Given the description of an element on the screen output the (x, y) to click on. 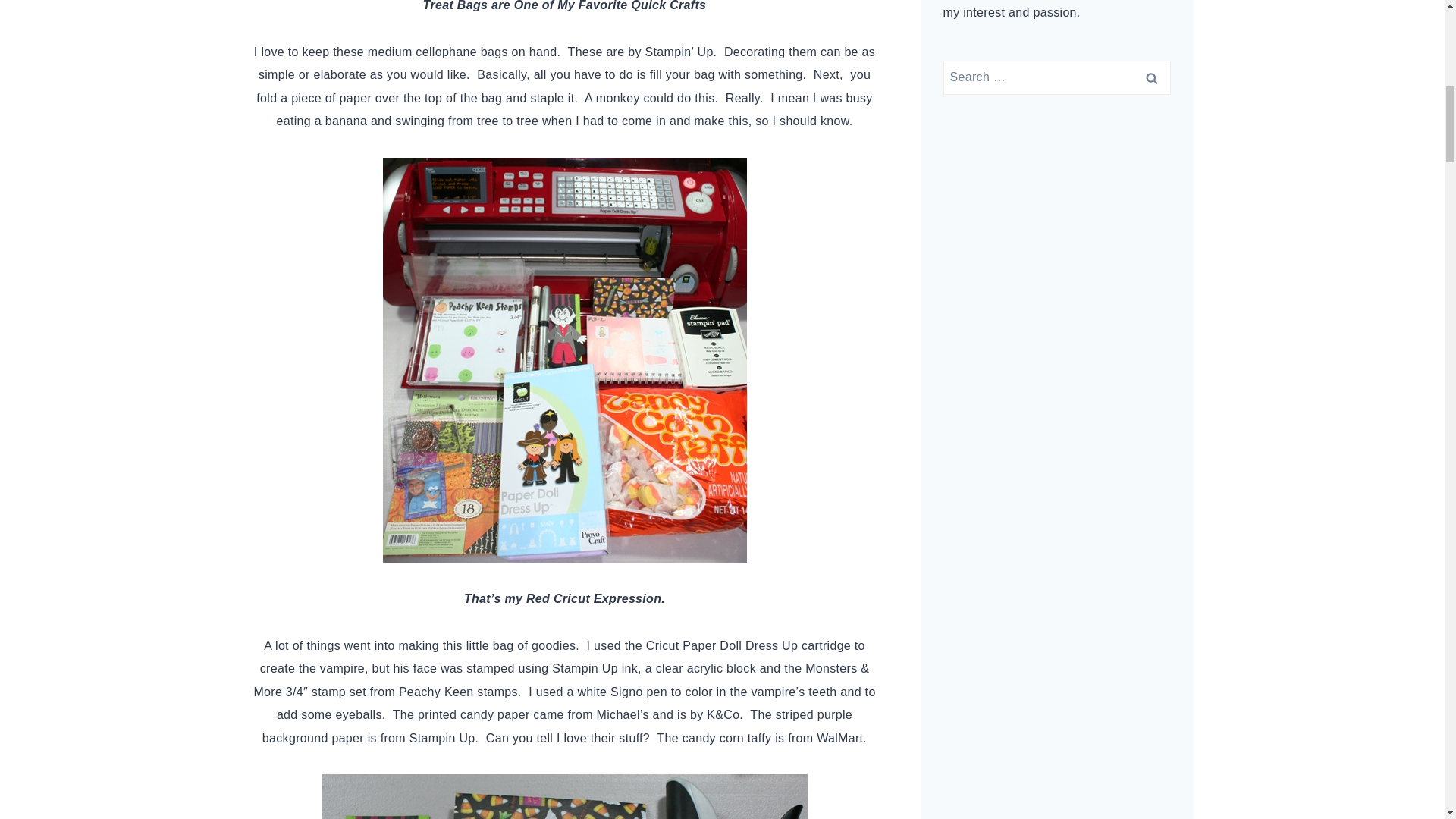
Search (1151, 77)
Search (1151, 77)
